Given the description of an element on the screen output the (x, y) to click on. 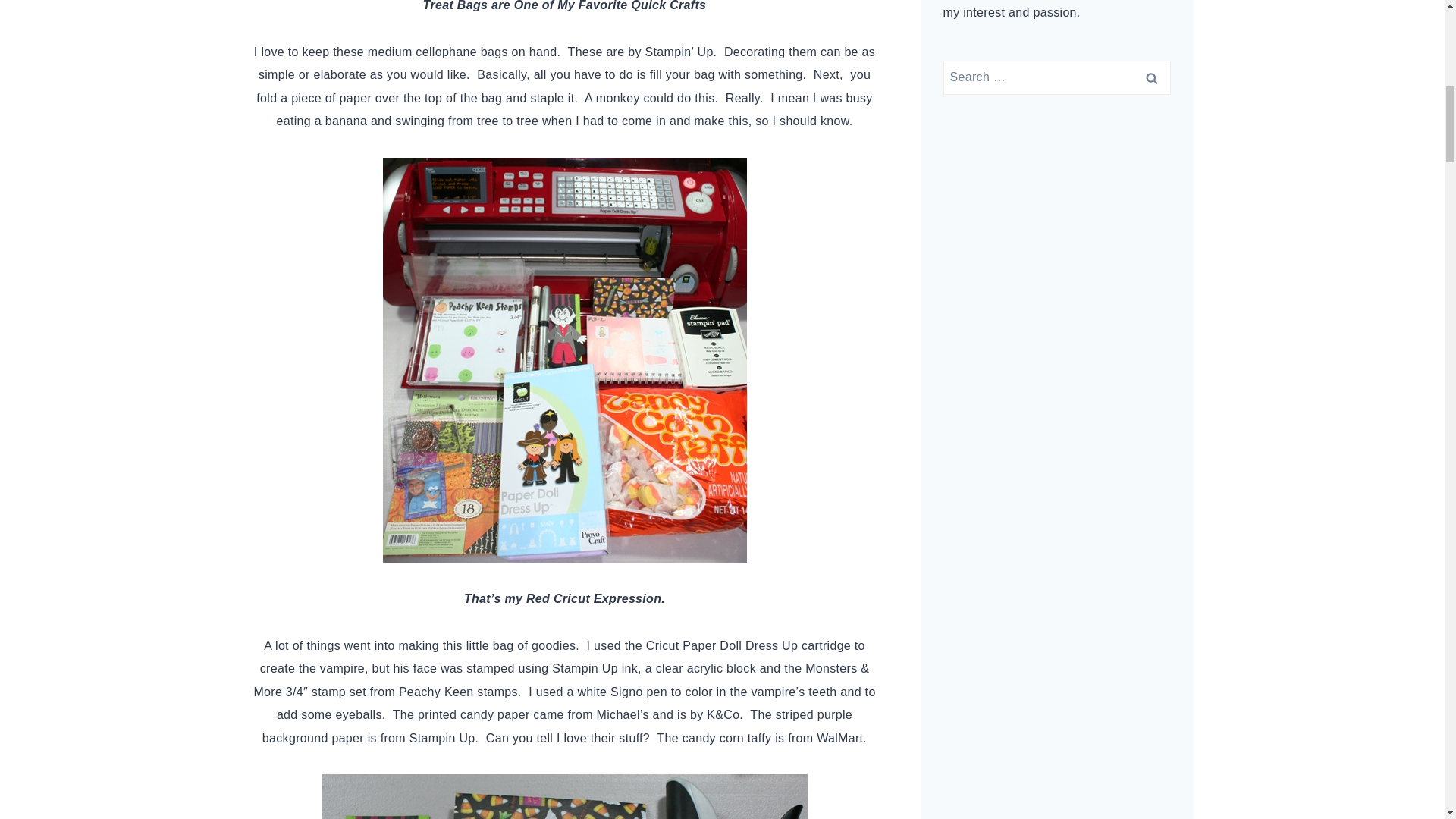
Search (1151, 77)
Search (1151, 77)
